Given the description of an element on the screen output the (x, y) to click on. 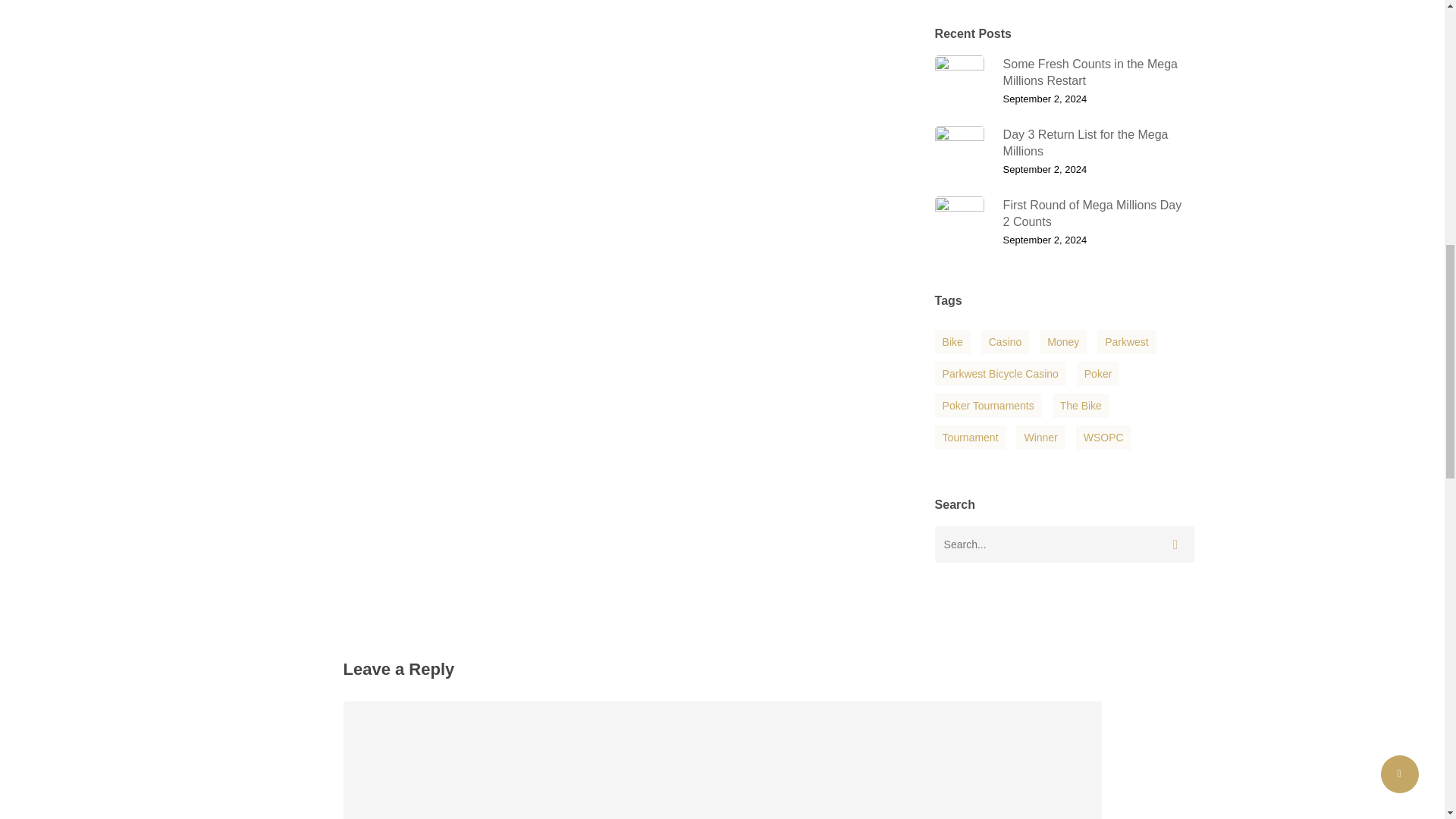
Bike (952, 341)
Poker Tournaments (988, 405)
Money (1062, 341)
Poker (1098, 373)
The Bike (1063, 220)
WSOPC (1080, 405)
Casino (1103, 437)
Tournament (1005, 341)
Search for: (970, 437)
